Given the description of an element on the screen output the (x, y) to click on. 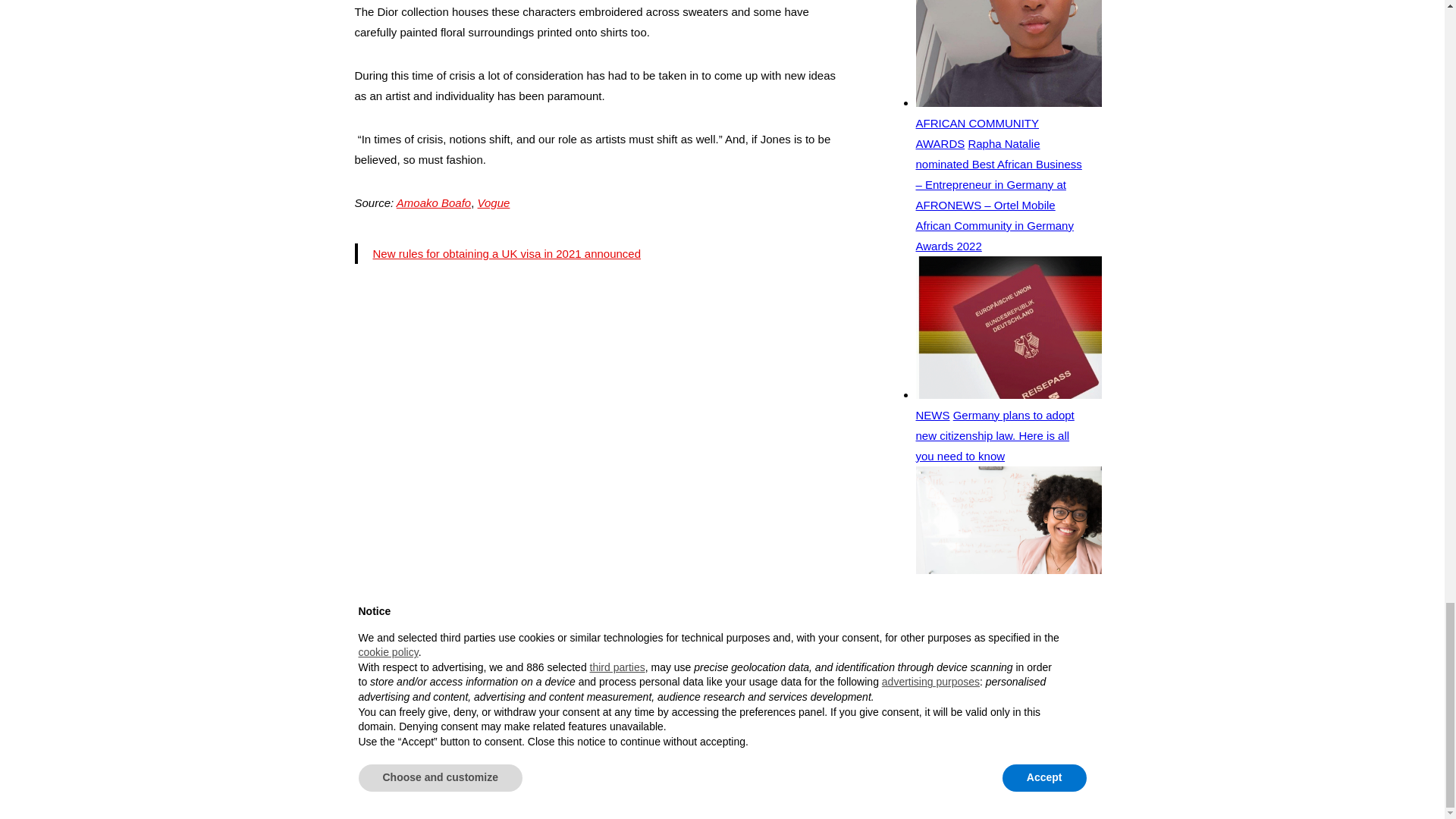
Ghanaians in Germany (450, 642)
Amoako Boafo (433, 202)
GHANAIANS IN GERMANY (450, 642)
New rules for obtaining a UK visa in 2021 announced (507, 253)
Vogue (494, 202)
